Given the description of an element on the screen output the (x, y) to click on. 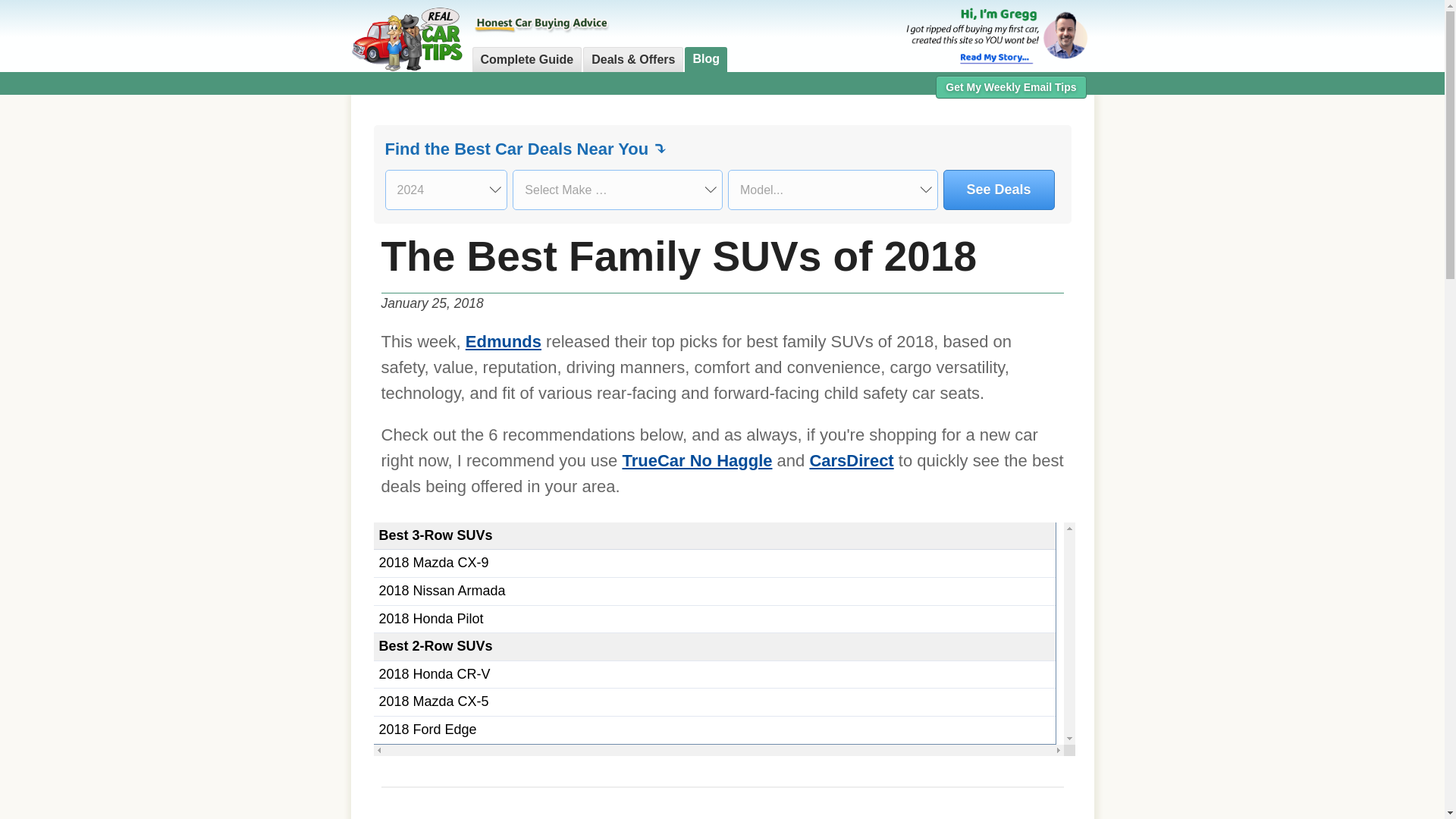
Blog (706, 58)
Complete Guide (526, 59)
CarsDirect (851, 460)
Get My Weekly Email Tips (1011, 87)
Edmunds (503, 341)
TrueCar No Haggle (696, 460)
See Deals (998, 189)
